Given the description of an element on the screen output the (x, y) to click on. 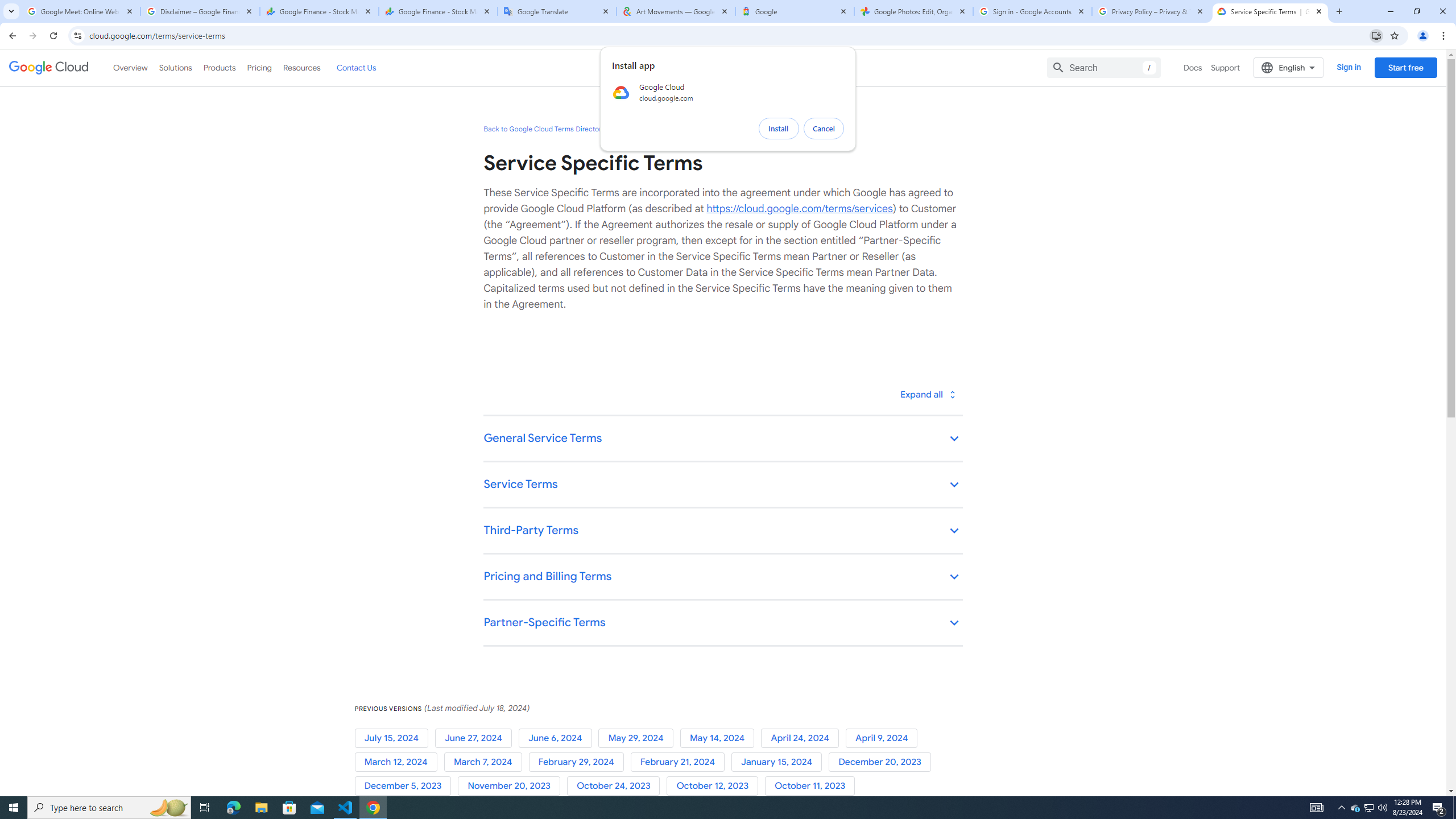
Partner-Specific Terms keyboard_arrow_down (722, 623)
March 12, 2024 (398, 761)
Resources (301, 67)
Back to Google Cloud Terms Directory (544, 128)
Pricing and Billing Terms keyboard_arrow_down (722, 577)
December 20, 2023 (882, 761)
https://cloud.google.com/terms/services (799, 208)
February 21, 2024 (680, 761)
Google Translate (556, 11)
May 29, 2024 (638, 737)
English (1288, 67)
October 12, 2023 (715, 786)
